Given the description of an element on the screen output the (x, y) to click on. 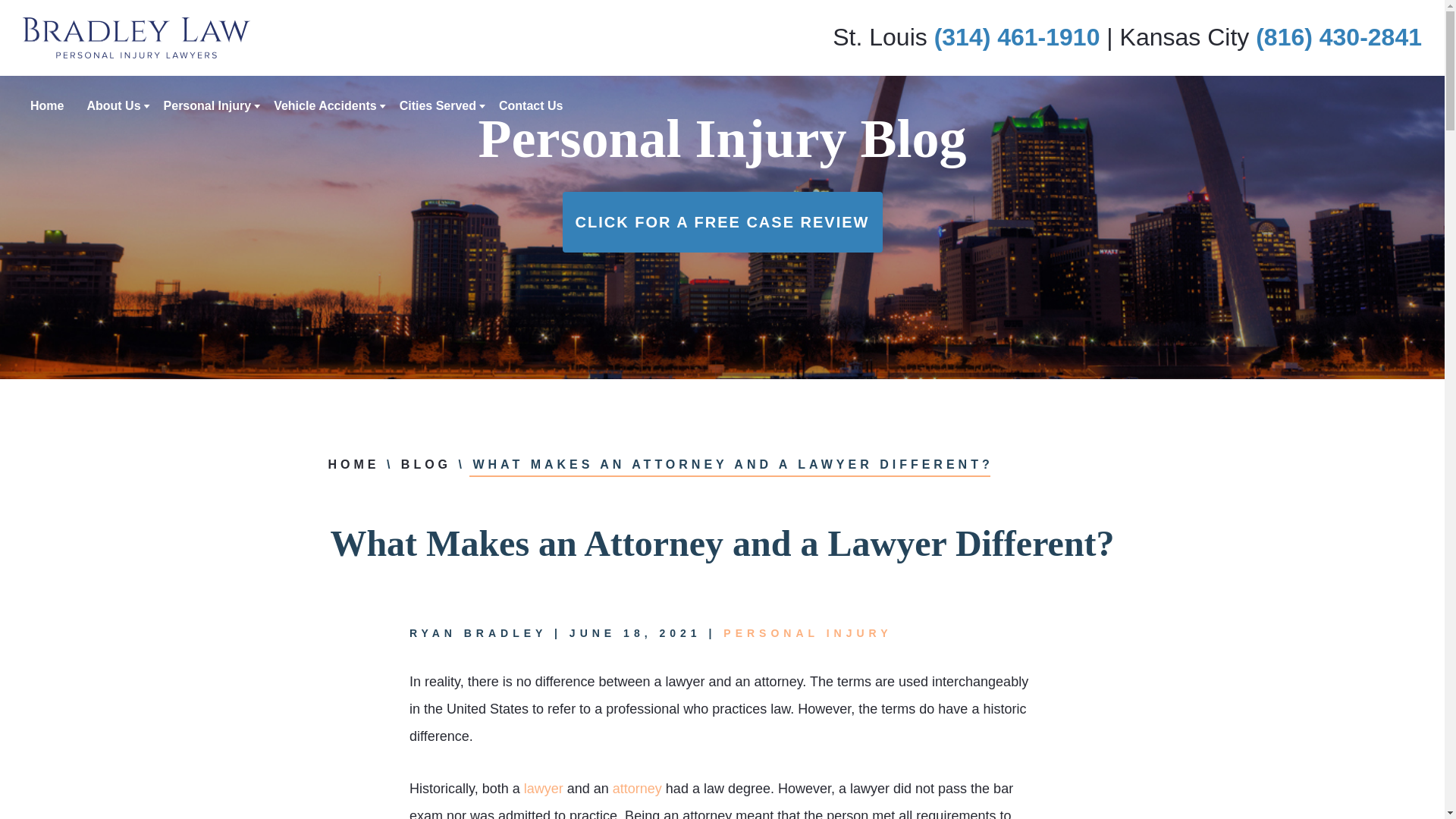
CLICK FOR A FREE CASE REVIEW (722, 221)
Contact Us (530, 105)
About Us (112, 105)
Home (47, 105)
Vehicle Accidents (324, 105)
Personal Injury (207, 105)
Cities Served (437, 105)
